Given the description of an element on the screen output the (x, y) to click on. 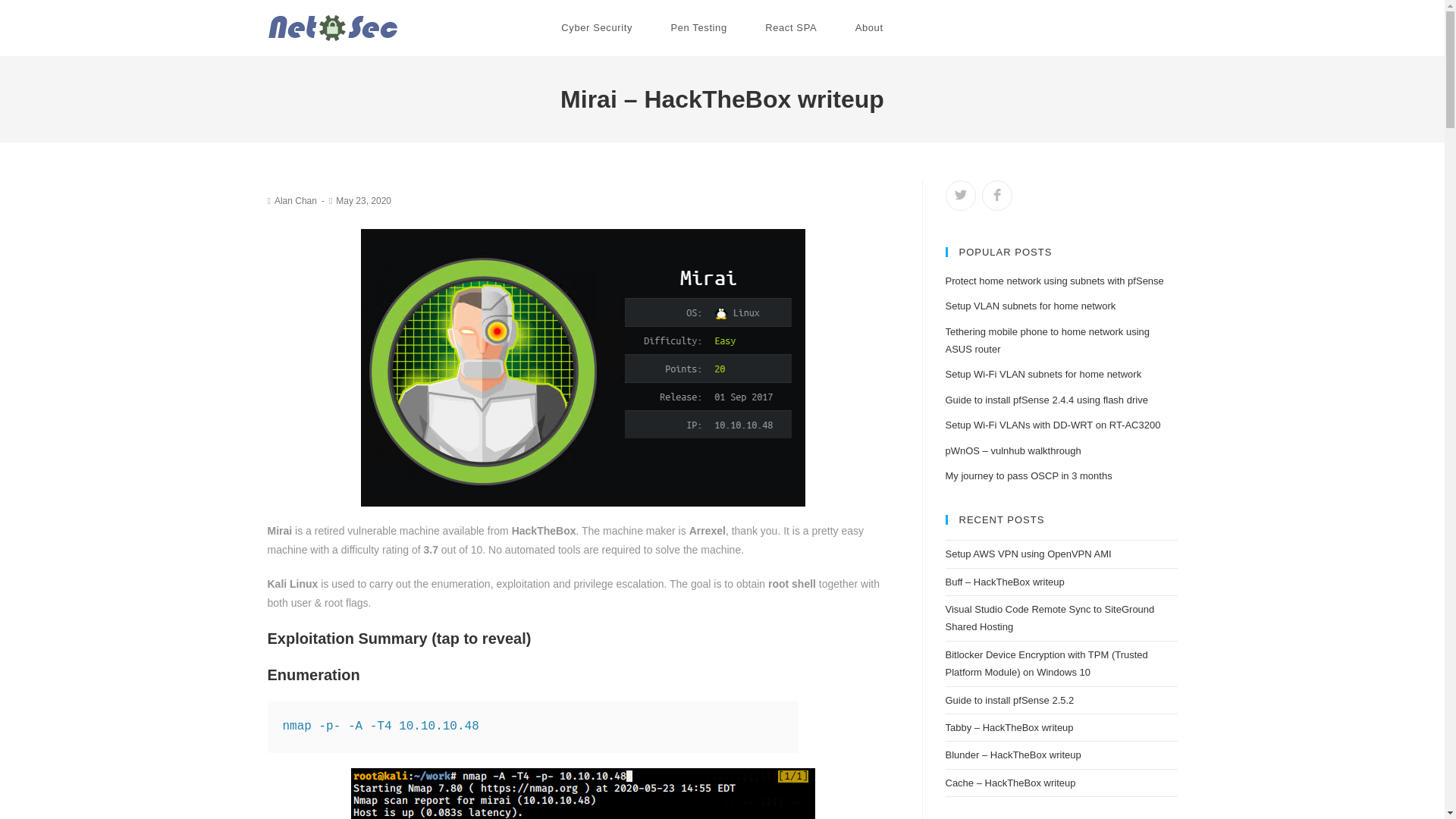
React SPA (790, 28)
Setup Wi-Fi VLANs with DD-WRT on RT-AC3200 (1052, 424)
Setup AWS VPN using OpenVPN AMI (1027, 553)
Posts by Alan Chan (296, 200)
Guide to install pfSense 2.5.2 (1009, 699)
Setup VLAN subnets for home network (1029, 306)
Share on Twitter (959, 195)
Setup Wi-Fi VLAN subnets for home network (1042, 374)
Protect home network using subnets with pfSense (1053, 280)
Visual Studio Code Remote Sync to SiteGround Shared Hosting (1049, 617)
Tethering mobile phone to home network using ASUS router (1047, 339)
Guide to install pfSense 2.4.4 using flash drive (1045, 399)
Cyber Security (595, 28)
My journey to pass OSCP in 3 months (1028, 475)
Share on Facebook (996, 195)
